Given the description of an element on the screen output the (x, y) to click on. 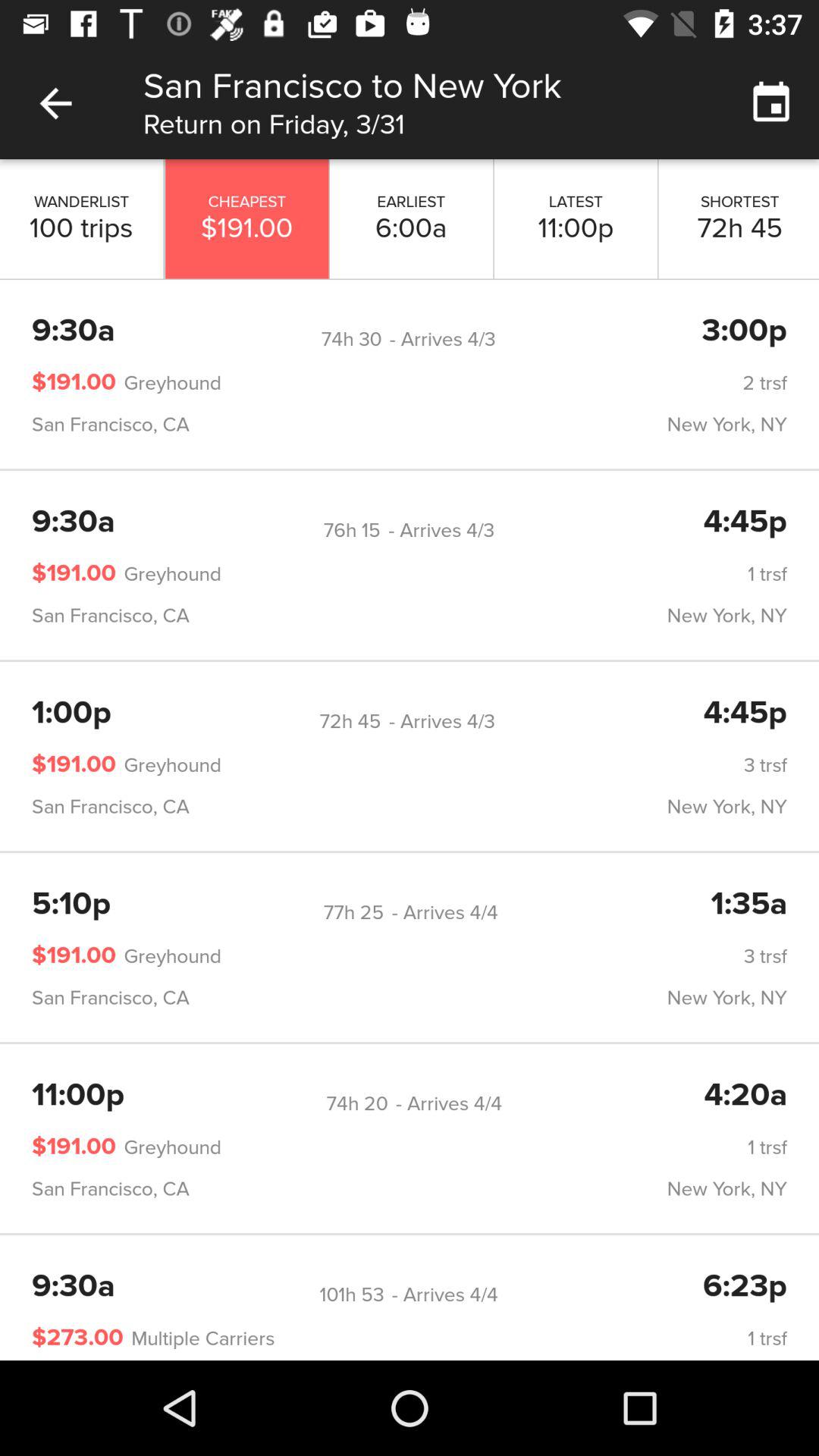
select the icon above 1 trsf icon (356, 1103)
